Given the description of an element on the screen output the (x, y) to click on. 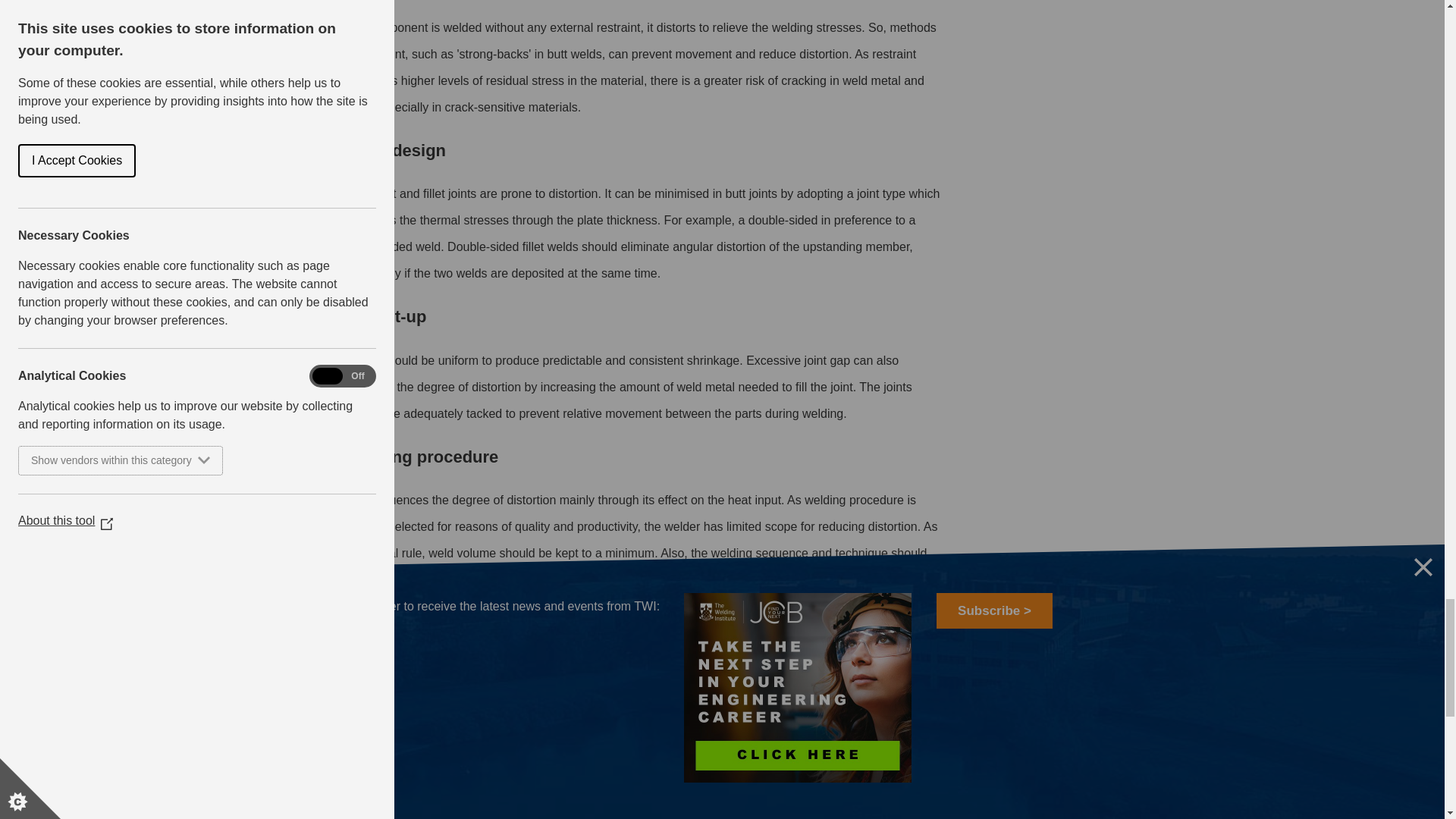
Contact Us (529, 656)
